Given the description of an element on the screen output the (x, y) to click on. 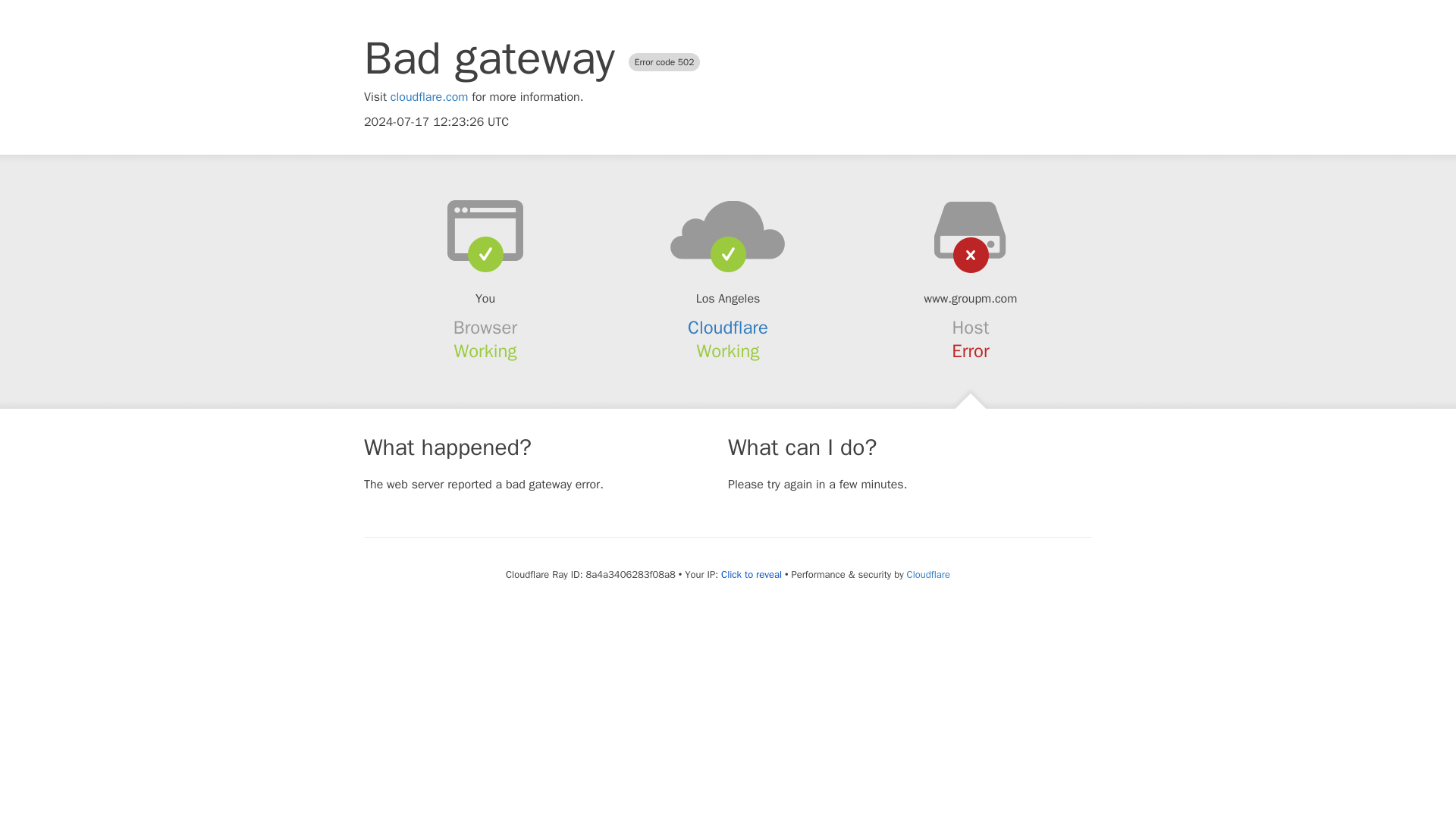
Cloudflare (928, 574)
cloudflare.com (429, 96)
Cloudflare (727, 327)
Click to reveal (750, 574)
